Given the description of an element on the screen output the (x, y) to click on. 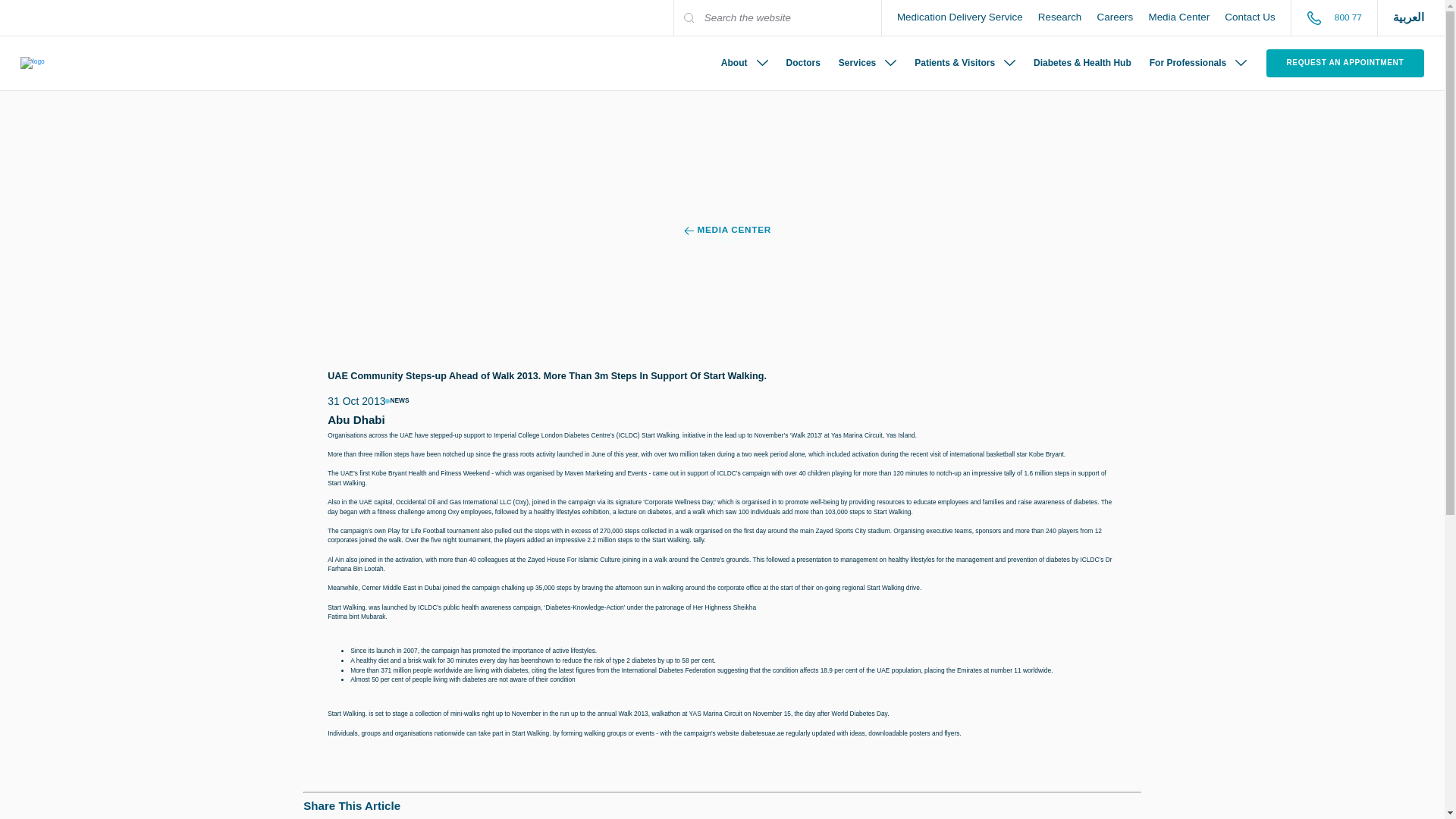
Services (867, 62)
Media Center (1178, 17)
Careers (1114, 17)
Research (1059, 17)
800 77 (1333, 17)
Doctors (803, 62)
Medication Delivery Service (959, 17)
About (744, 62)
Contact Us (1249, 17)
